Given the description of an element on the screen output the (x, y) to click on. 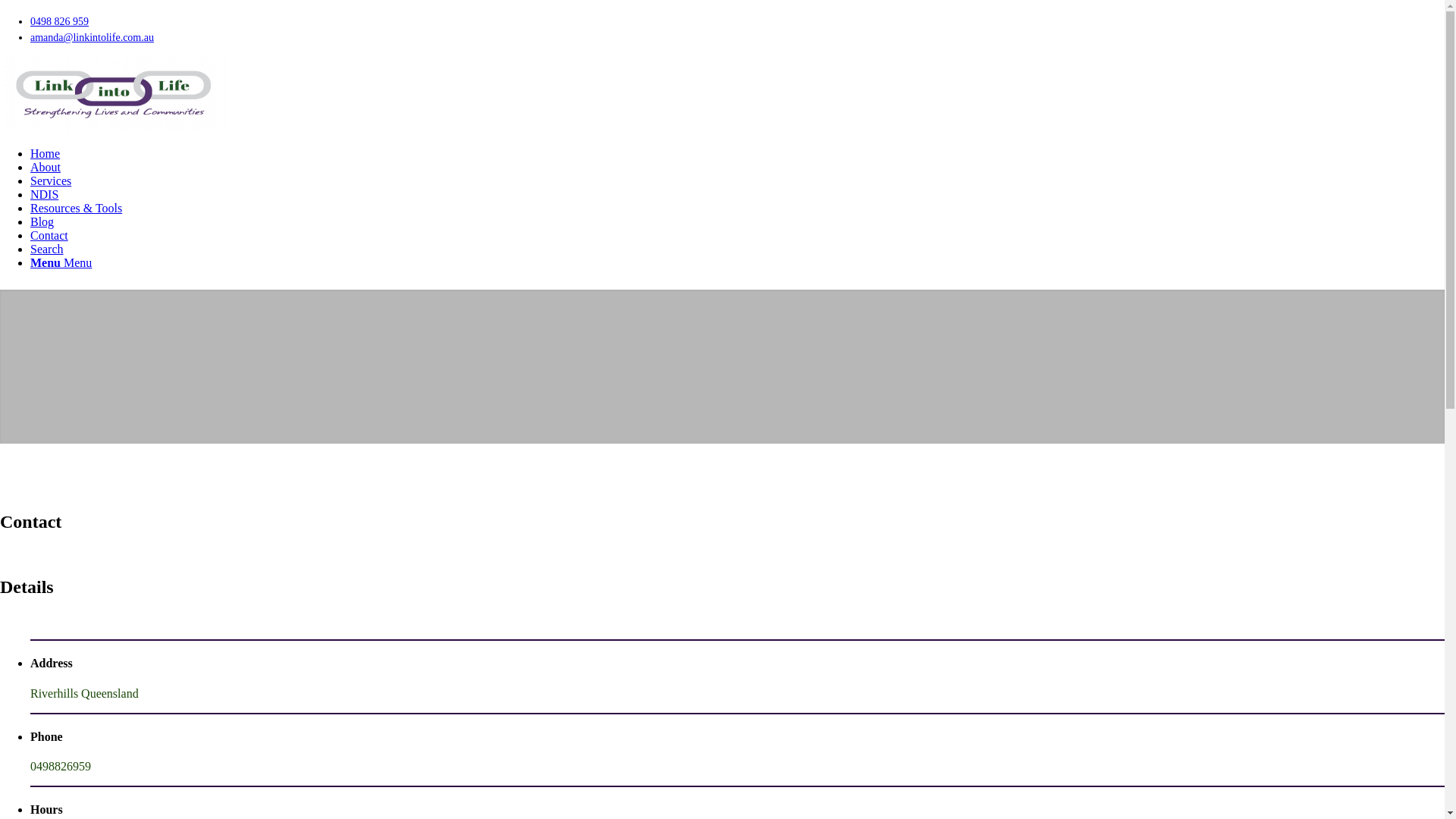
NDIS Element type: text (44, 194)
Home Element type: text (44, 153)
amanda@linkintolife.com.au Element type: text (91, 37)
Menu Menu Element type: text (60, 262)
Search Element type: text (46, 248)
Resources & Tools Element type: text (76, 207)
About Element type: text (45, 166)
0498 826 959 Element type: text (59, 21)
Services Element type: text (50, 180)
Blog Element type: text (41, 221)
Contact Element type: text (49, 235)
